Given the description of an element on the screen output the (x, y) to click on. 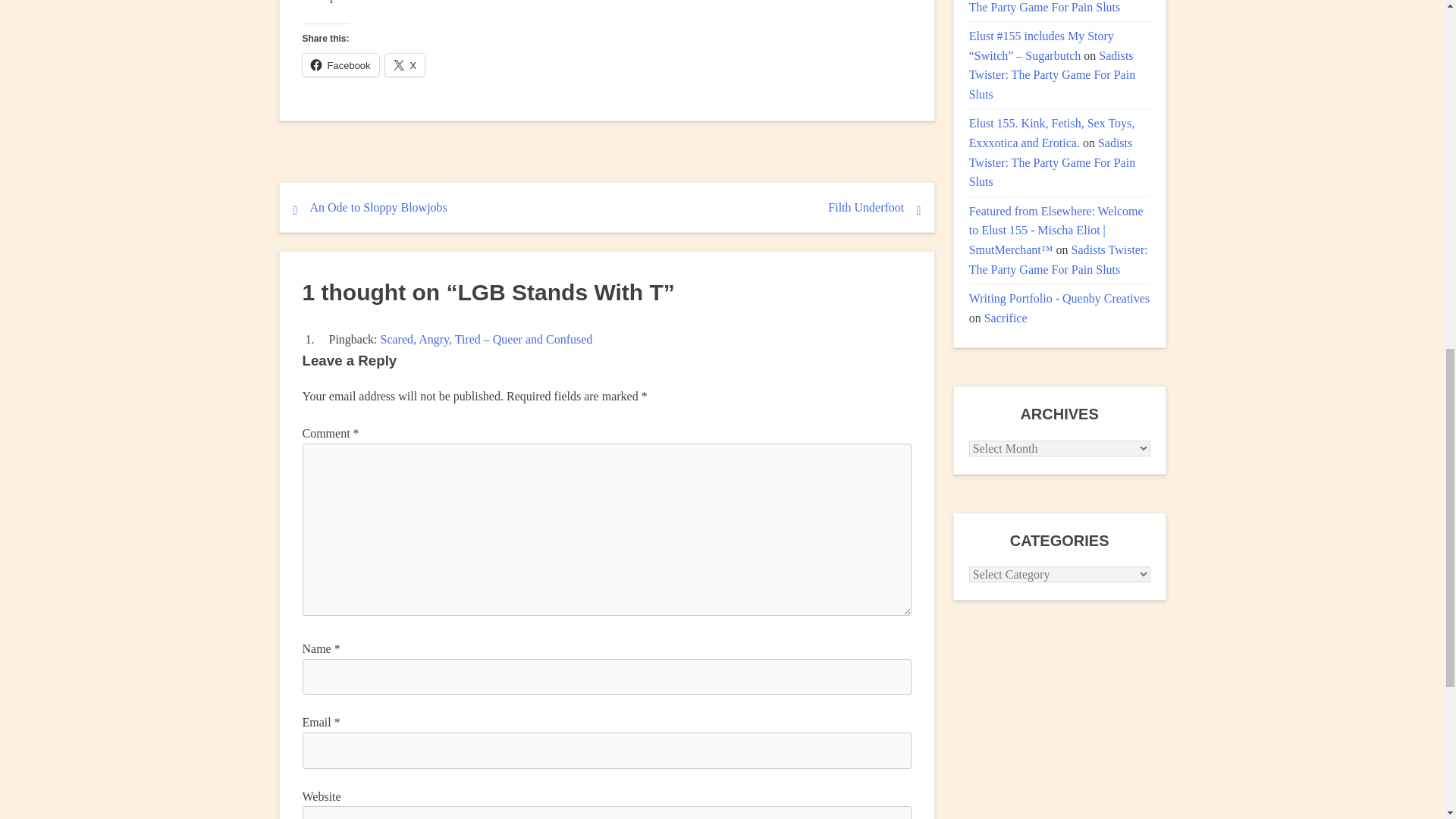
Filth Underfoot (866, 206)
Facebook (339, 65)
Sadists Twister: The Party Game For Pain Sluts (1049, 6)
An Ode to Sloppy Blowjobs (377, 206)
X (405, 65)
Click to share on X (405, 65)
Click to share on Facebook (339, 65)
